Given the description of an element on the screen output the (x, y) to click on. 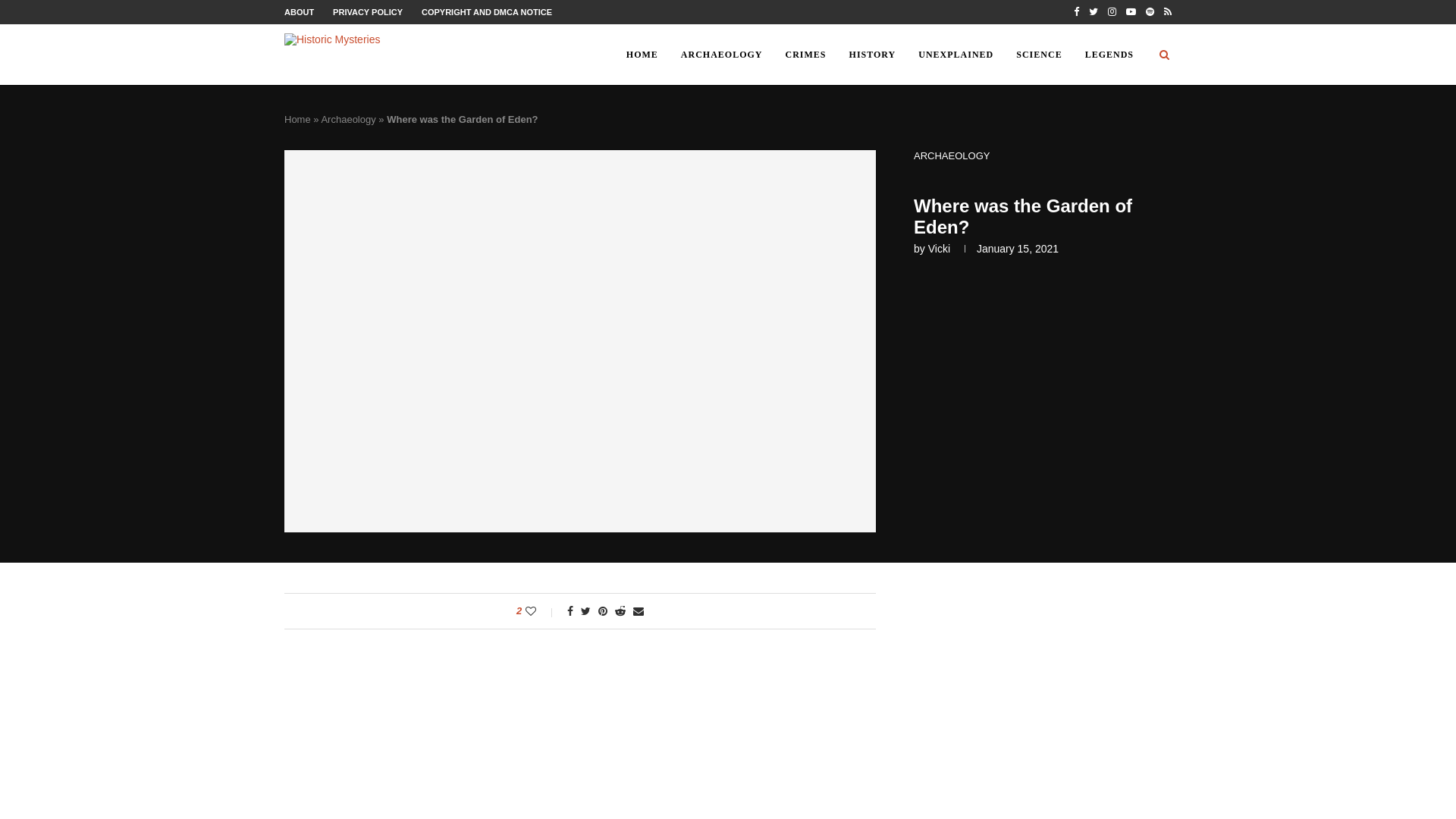
Archaeology (347, 119)
SCIENCE (1038, 54)
ARCHAEOLOGY (721, 54)
PRIVACY POLICY (368, 11)
HISTORY (872, 54)
ARCHAEOLOGY (952, 155)
LEGENDS (1109, 54)
CRIMES (806, 54)
Home (297, 119)
Like (540, 611)
Vicki (939, 248)
ABOUT (298, 11)
COPYRIGHT AND DMCA NOTICE (486, 11)
UNEXPLAINED (955, 54)
